Given the description of an element on the screen output the (x, y) to click on. 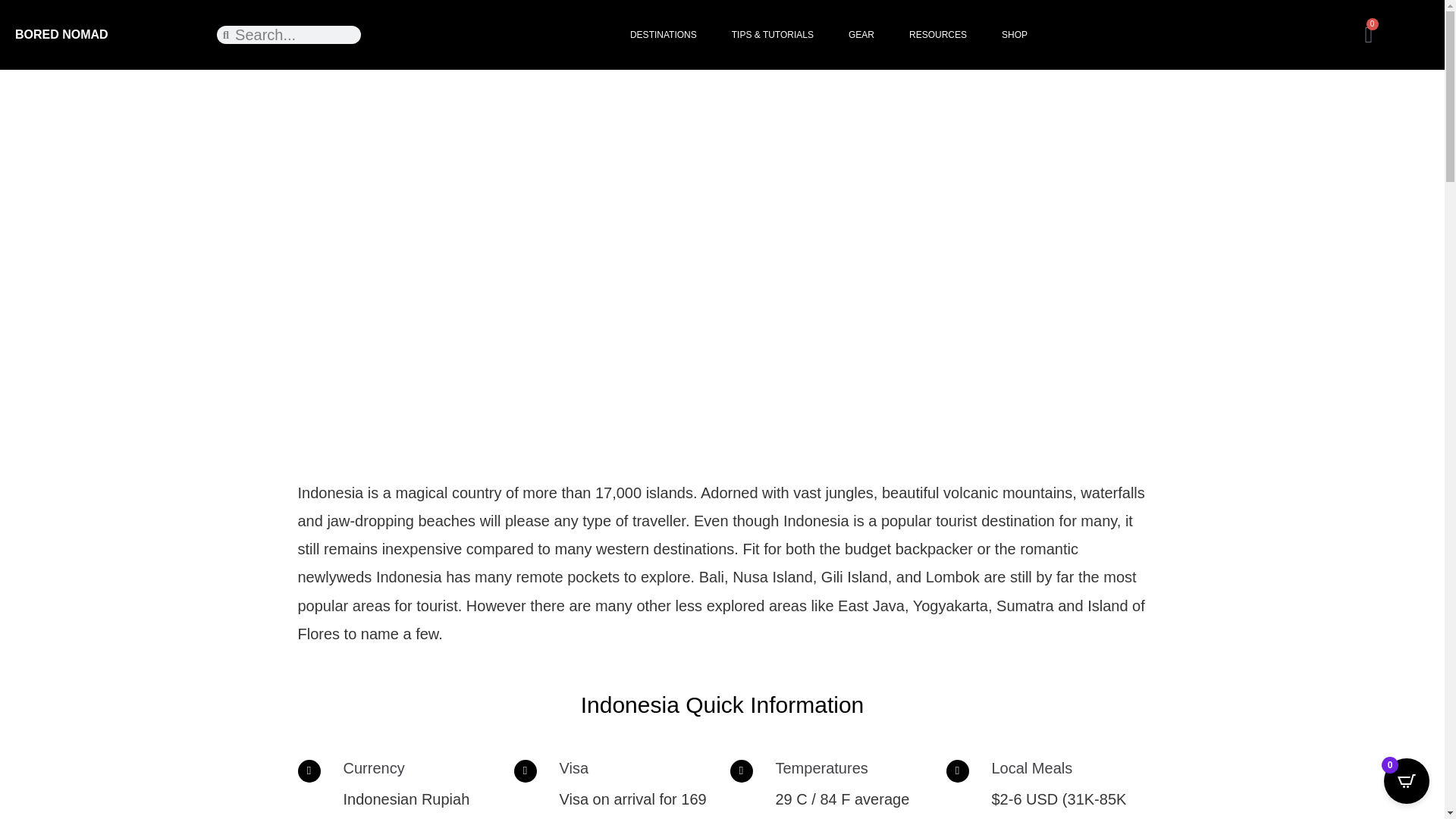
RESOURCES (937, 34)
DESTINATIONS (662, 34)
BORED NOMAD (60, 33)
